Given the description of an element on the screen output the (x, y) to click on. 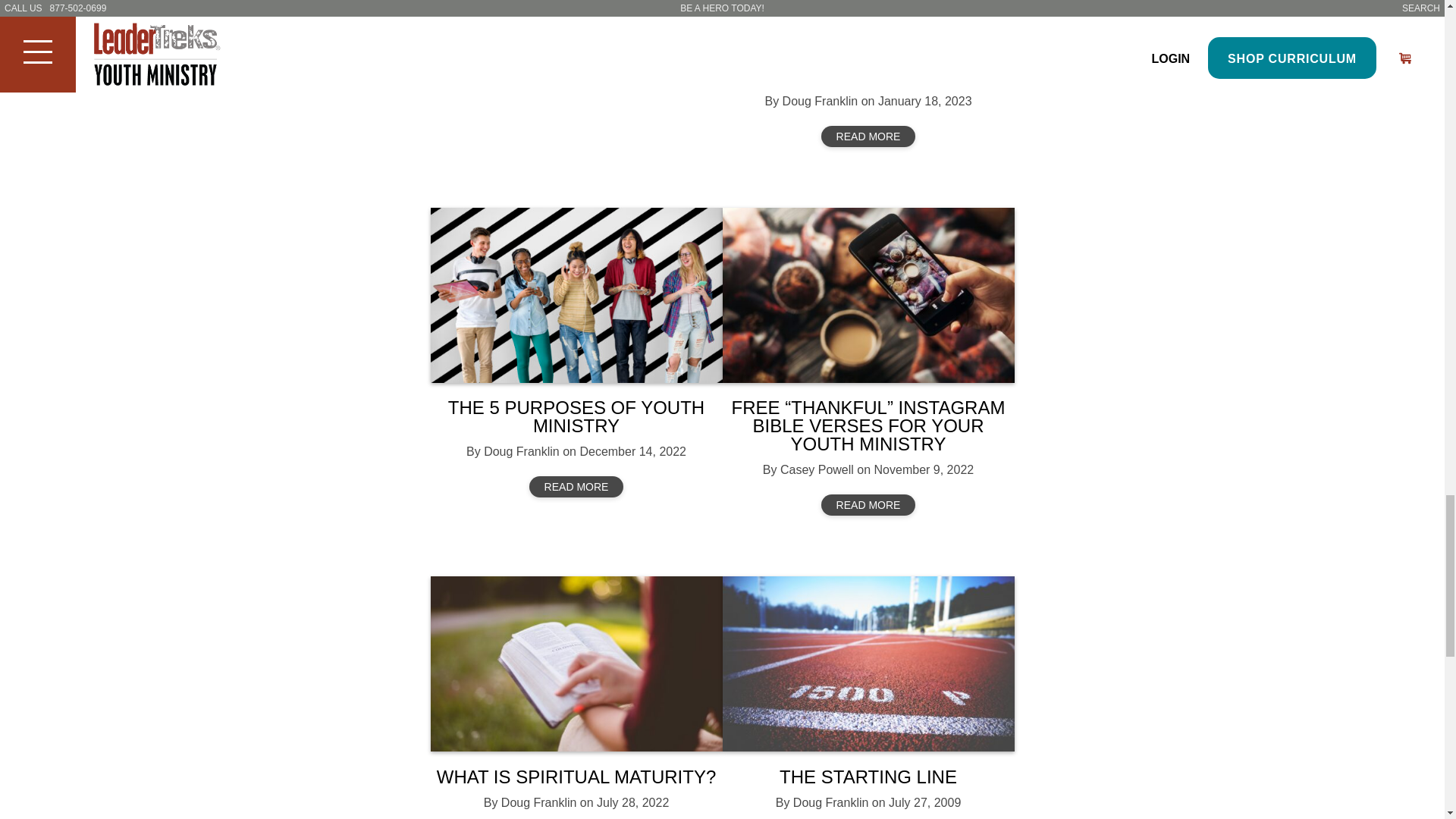
THE 5 PURPOSES OF YOUTH MINISTRY (576, 416)
WHAT IS SPIRITUAL MATURITY? (576, 776)
READ MORE (868, 504)
READ MORE (868, 136)
READ MORE (576, 486)
GROW YOUR LEADERSHIP (868, 75)
GROW YOUR LEADERSHIP (867, 25)
The Starting Line (867, 663)
What is Spiritual Maturity? (576, 663)
The 5 Purposes of Youth Ministry (576, 295)
